Given the description of an element on the screen output the (x, y) to click on. 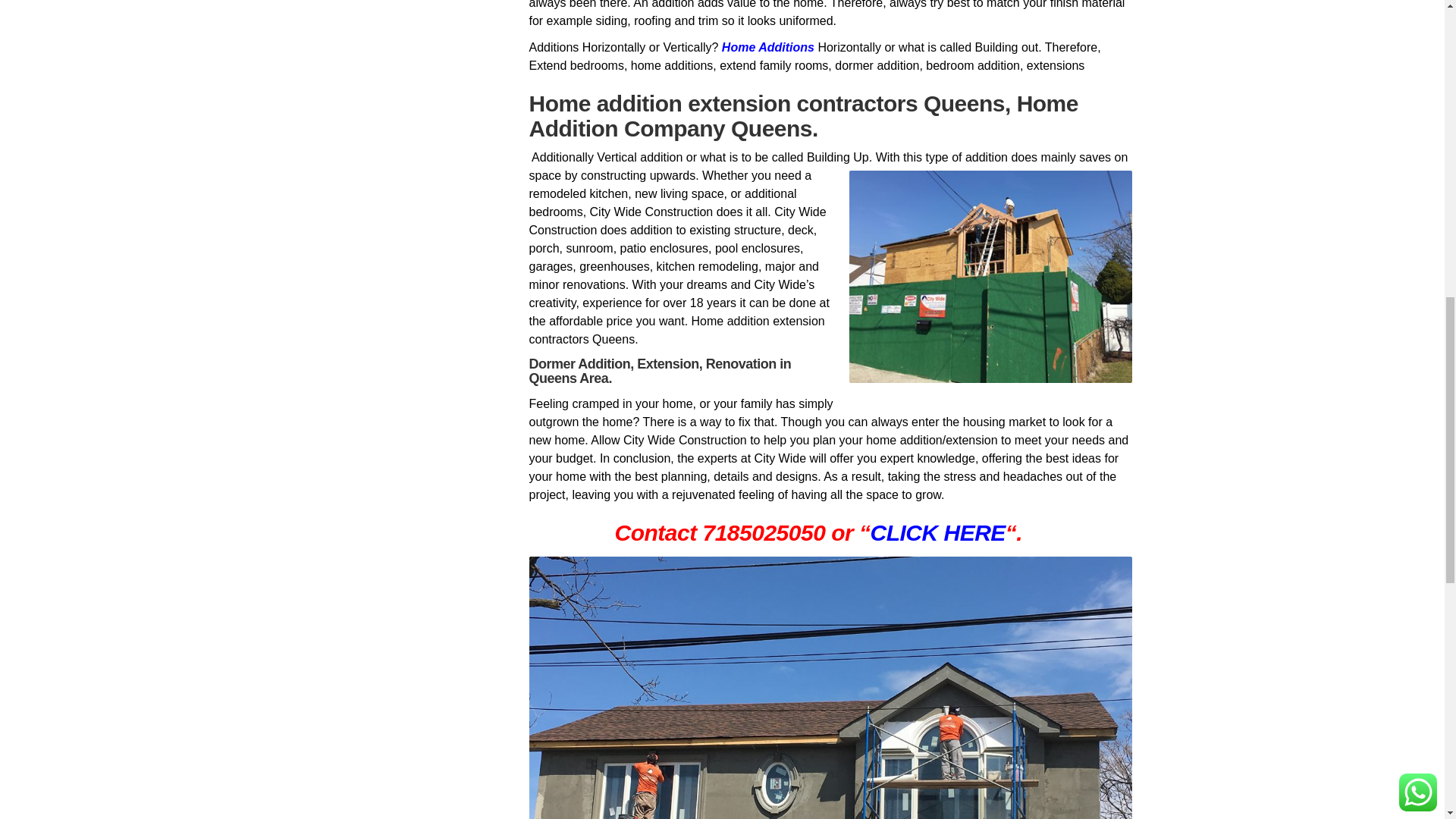
Home Additions (767, 47)
